Given the description of an element on the screen output the (x, y) to click on. 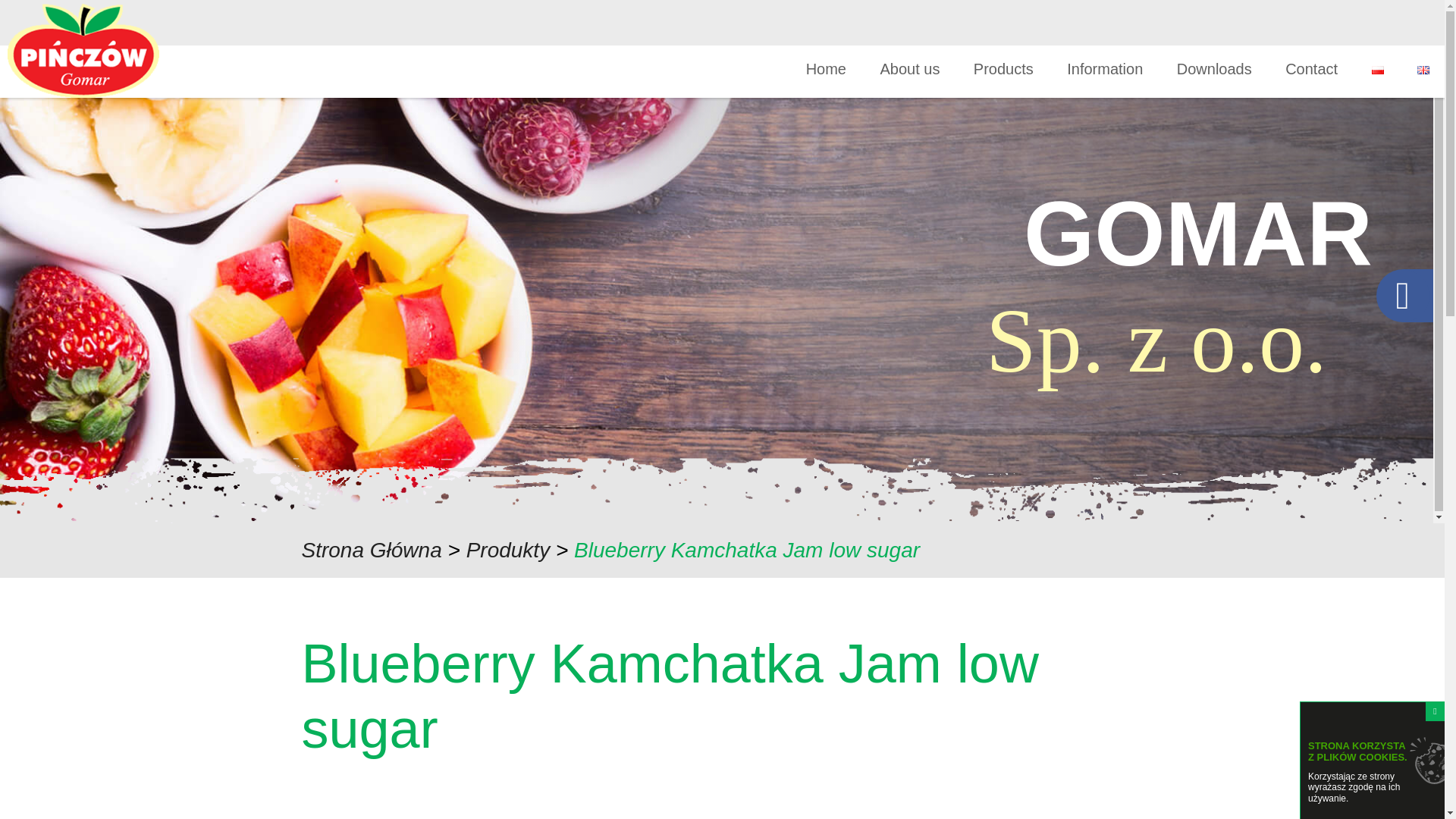
About us (909, 69)
Products (1003, 69)
Information (1104, 69)
Home (825, 69)
Contact (1311, 69)
Downloads (1214, 69)
Produkty (507, 549)
